Given the description of an element on the screen output the (x, y) to click on. 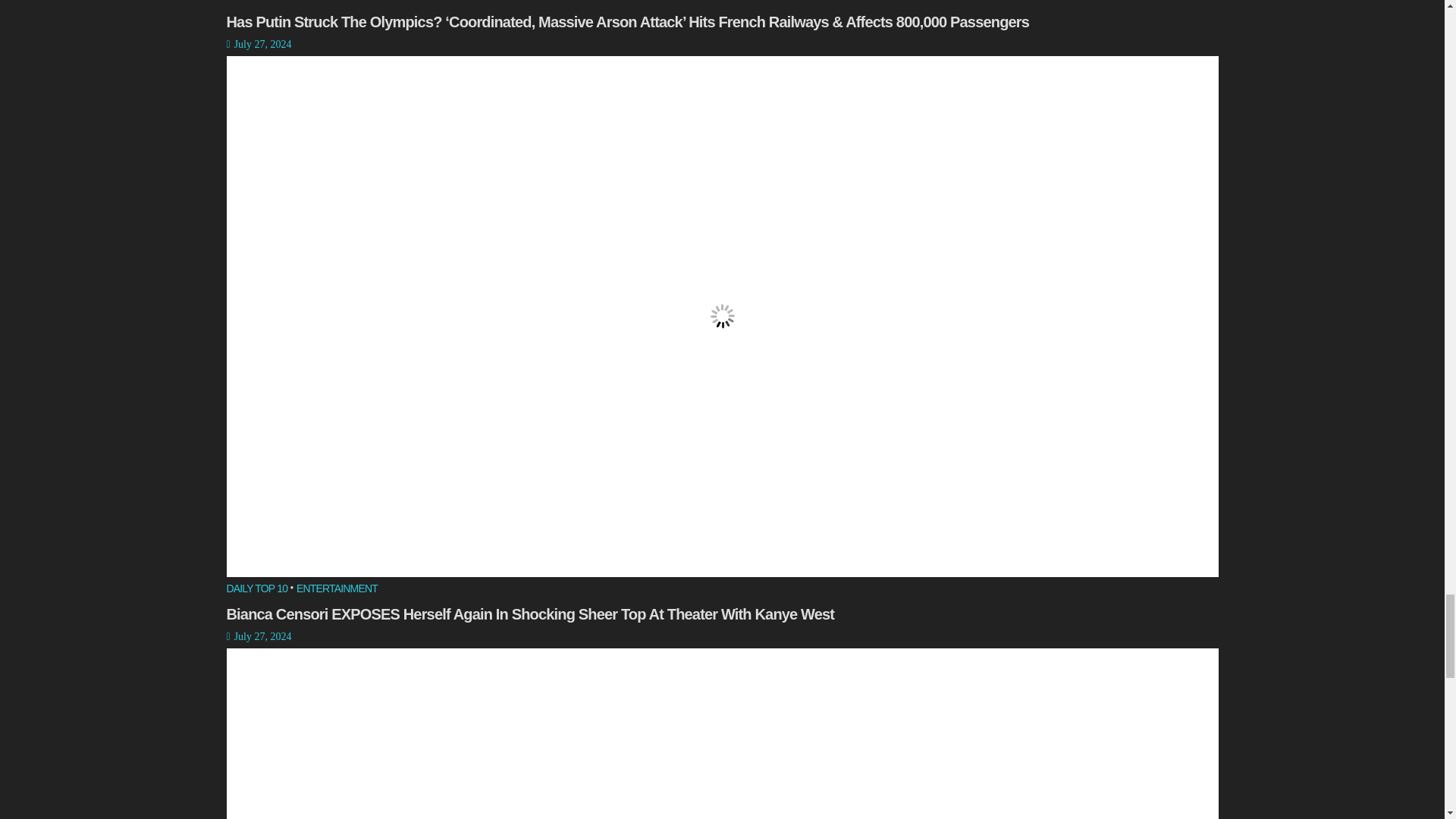
DAILY TOP 10 (255, 5)
ENTERTAINMENT (337, 5)
